Given the description of an element on the screen output the (x, y) to click on. 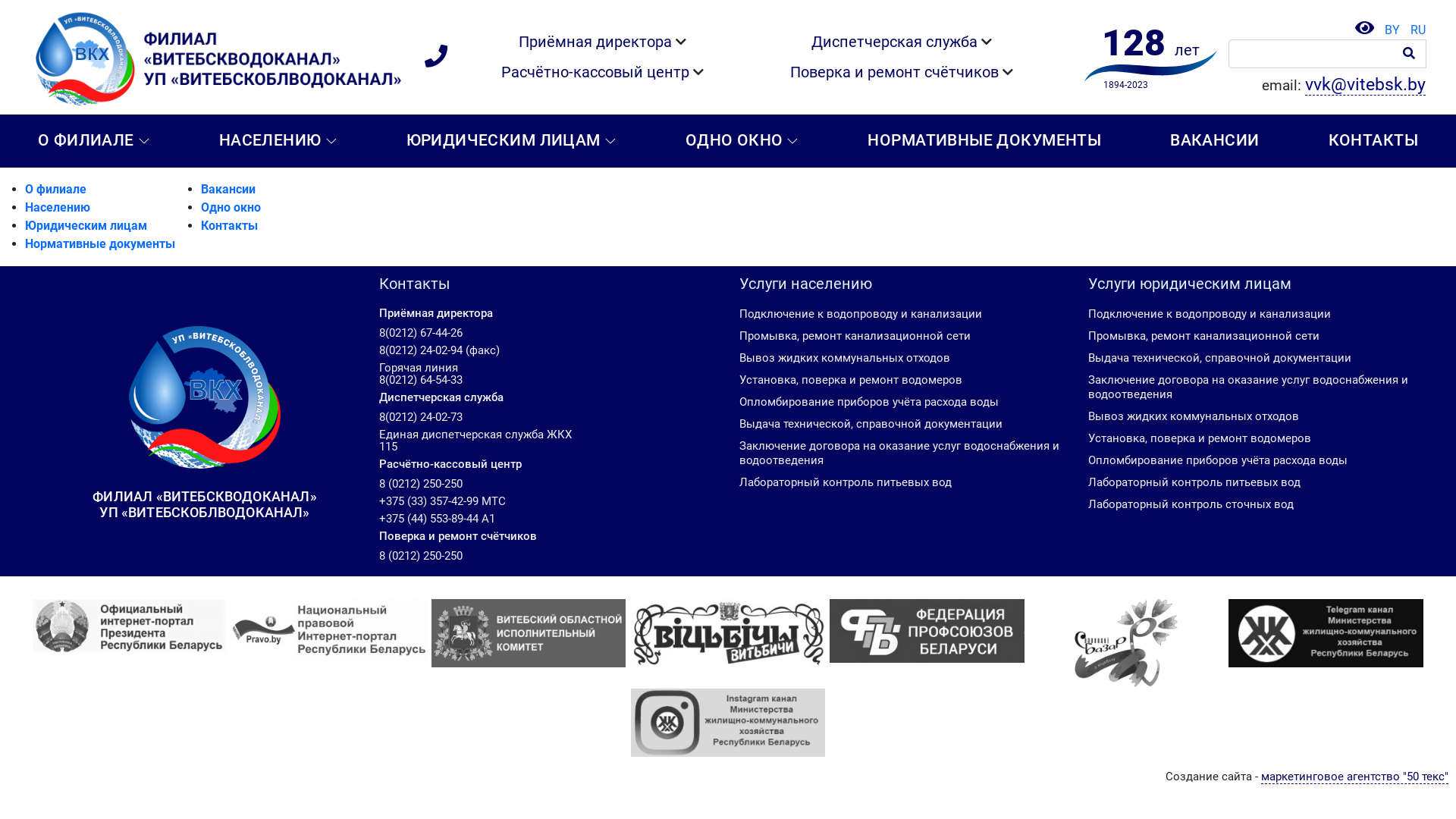
BY Element type: text (1388, 29)
RU Element type: text (1413, 29)
vvk@vitebsk.by Element type: text (1365, 84)
